Given the description of an element on the screen output the (x, y) to click on. 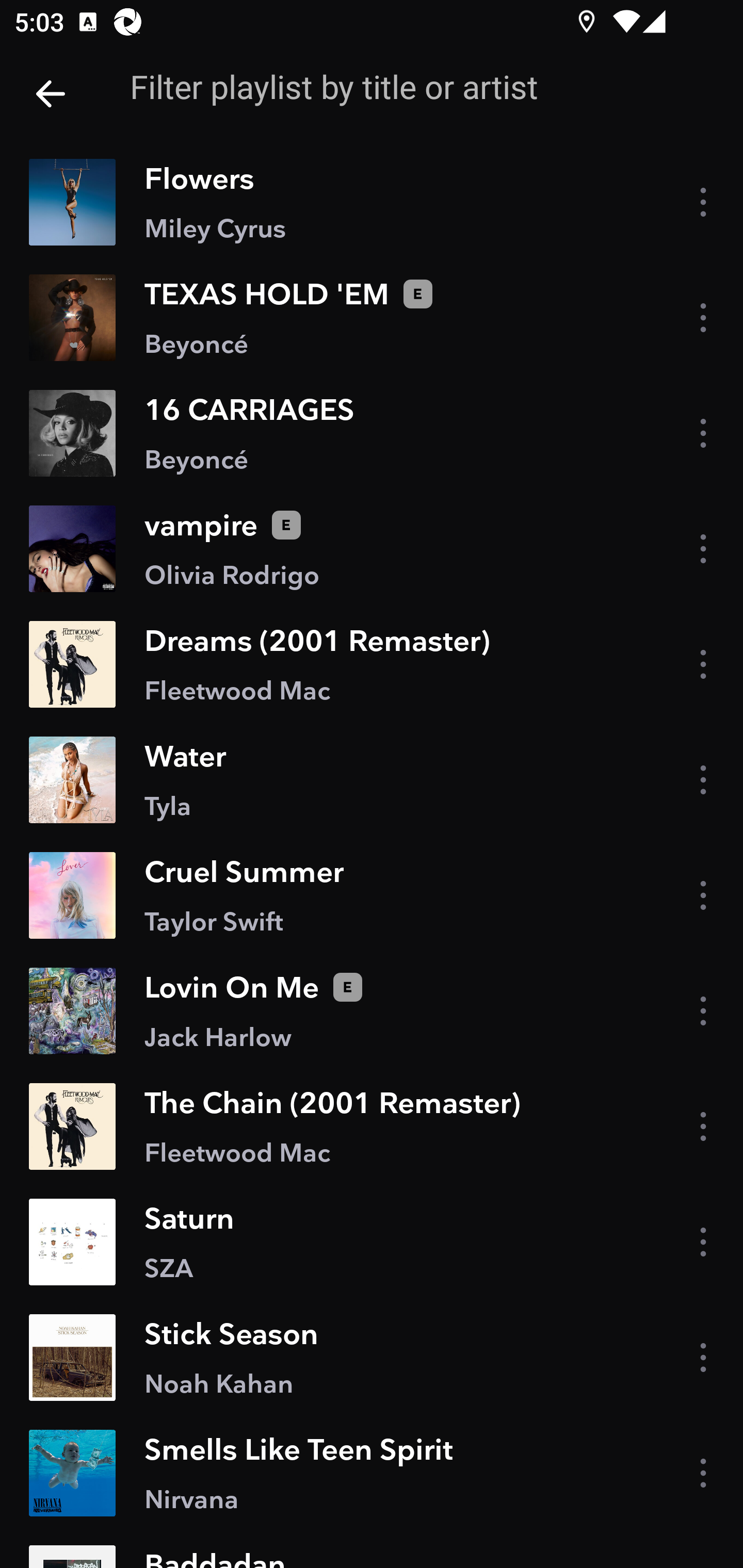
Filter playlist by title or artist (407, 87)
Flowers Miley Cyrus (371, 202)
TEXAS HOLD 'EM Beyoncé (371, 317)
16 CARRIAGES Beyoncé (371, 432)
vampire Olivia Rodrigo (371, 548)
Dreams (2001 Remaster) Fleetwood Mac (371, 664)
Water Tyla (371, 779)
Cruel Summer Taylor Swift (371, 895)
Lovin On Me Jack Harlow (371, 1011)
The Chain (2001 Remaster) Fleetwood Mac (371, 1126)
Saturn SZA (371, 1241)
Stick Season Noah Kahan (371, 1357)
Smells Like Teen Spirit Nirvana (371, 1472)
